Given the description of an element on the screen output the (x, y) to click on. 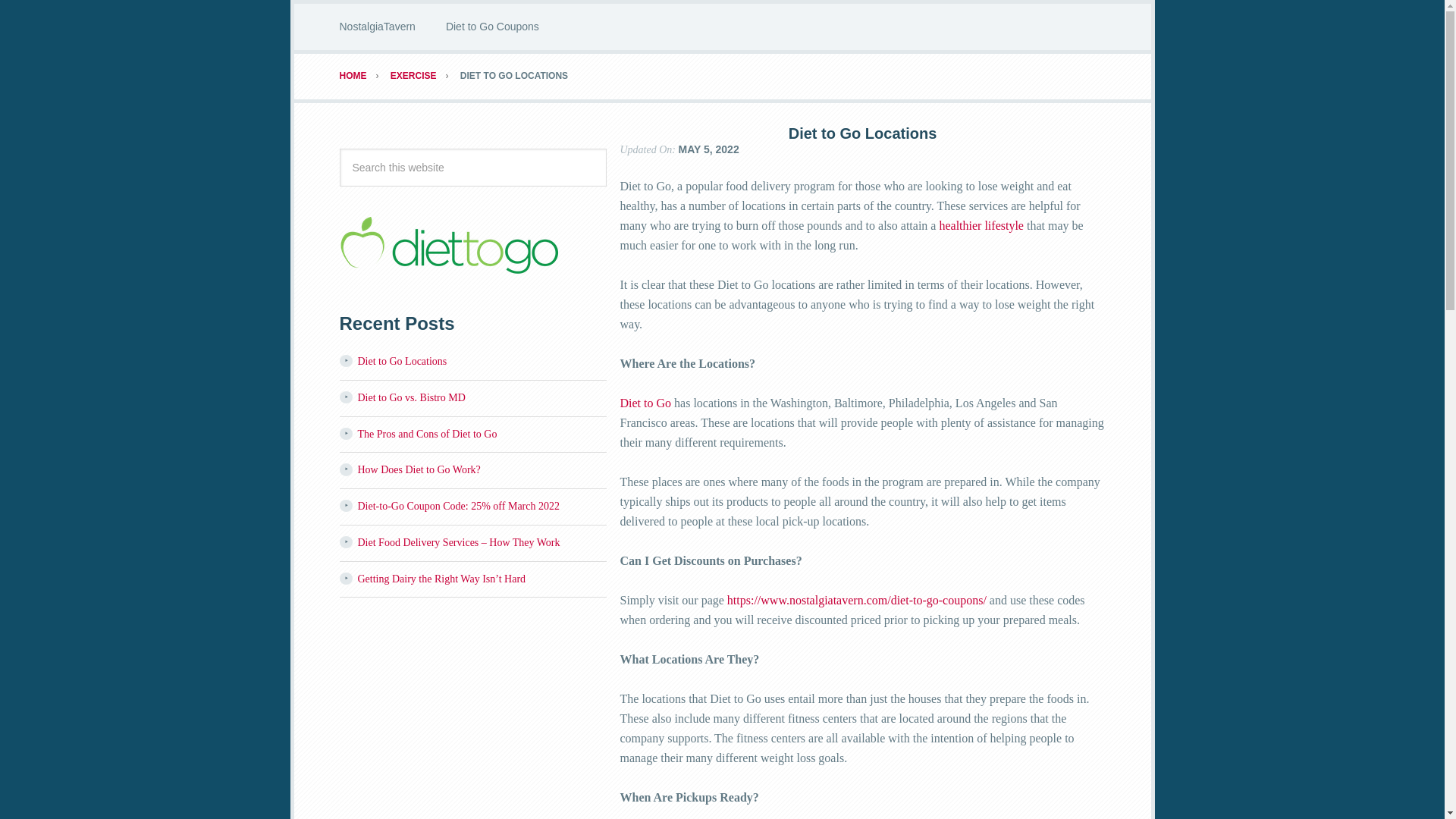
Diet to Go Locations (402, 360)
healthier lifestyle (981, 225)
The Pros and Cons of Diet to Go (427, 433)
HOME (363, 75)
How Does Diet to Go Work? (419, 469)
Diet to Go vs. Bistro MD (411, 397)
NostalgiaTavern (377, 26)
EXERCISE (424, 75)
Diet to Go Coupons (492, 26)
Diet to Go (647, 402)
